Given the description of an element on the screen output the (x, y) to click on. 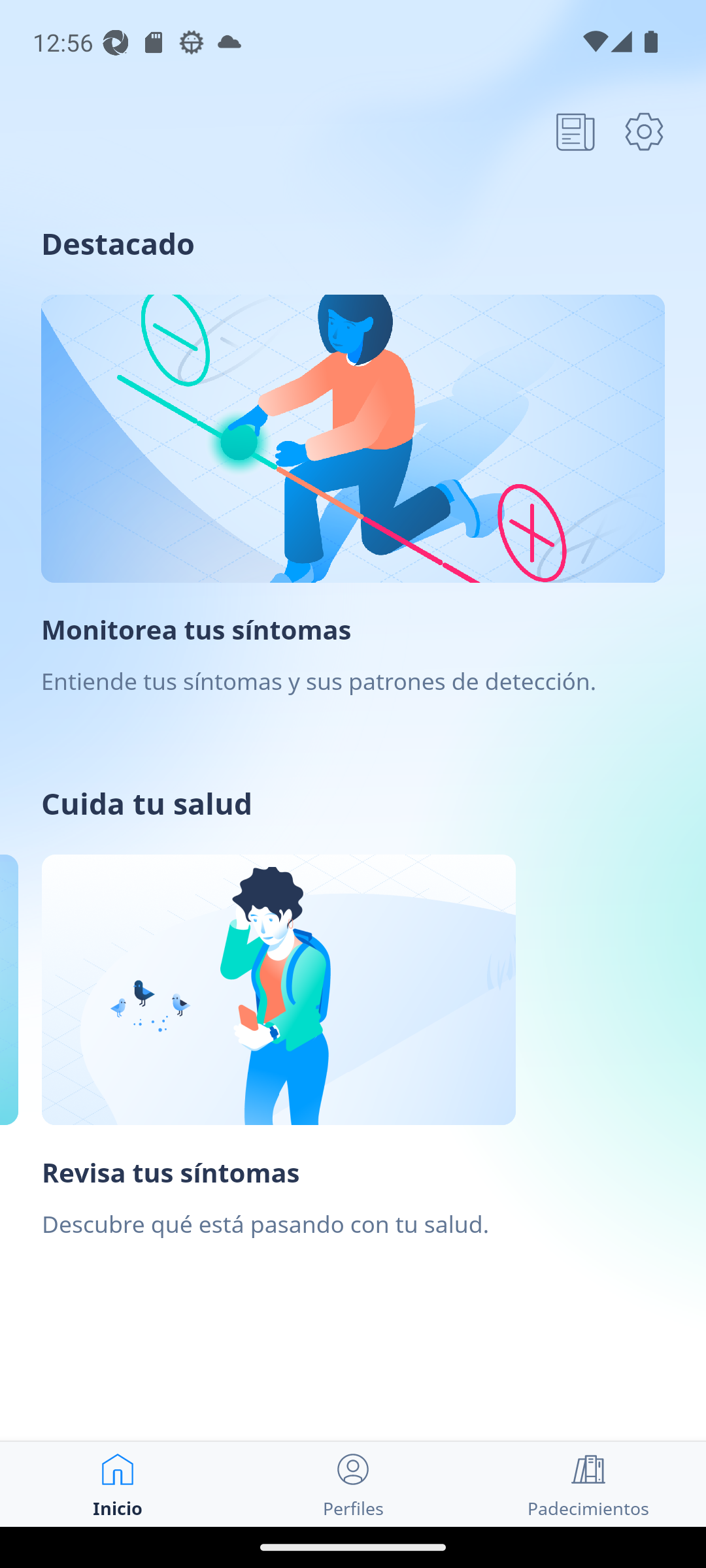
article icon , open articles (574, 131)
settings icon, open settings (644, 131)
Inicio (117, 1484)
Perfiles (352, 1484)
Padecimientos (588, 1484)
